Given the description of an element on the screen output the (x, y) to click on. 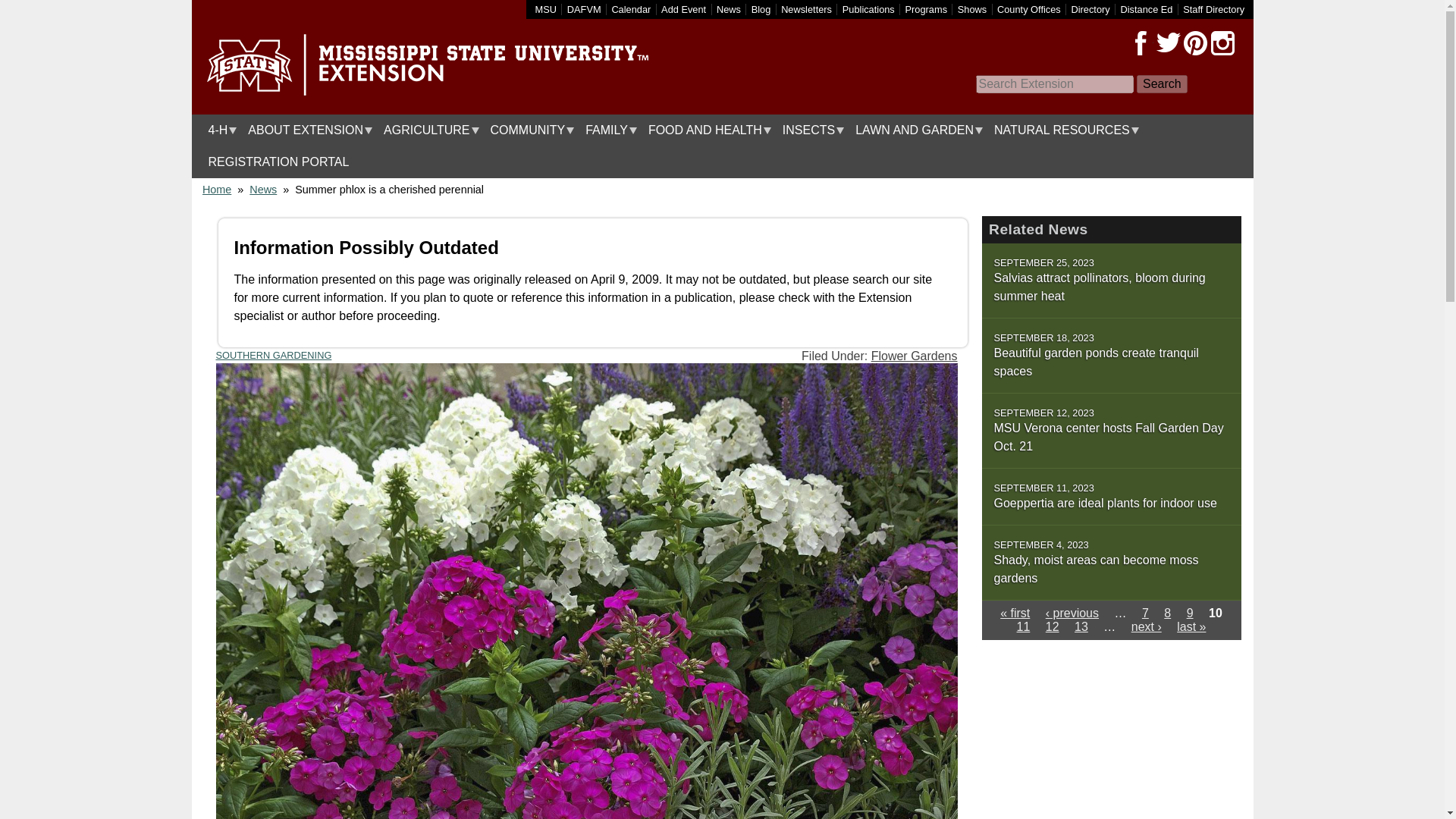
Pinterest (1194, 43)
List of Extension Programs (926, 9)
DAFVM (584, 9)
Staff Directory (1213, 9)
Newsletters (805, 9)
Link to Mississippi State University (545, 9)
Facebook (1140, 43)
Twitter (1167, 43)
Shows (972, 9)
Instagram (1221, 43)
Directory of employees of the MSU Extension Service (1213, 9)
News (728, 9)
MSU (545, 9)
